Given the description of an element on the screen output the (x, y) to click on. 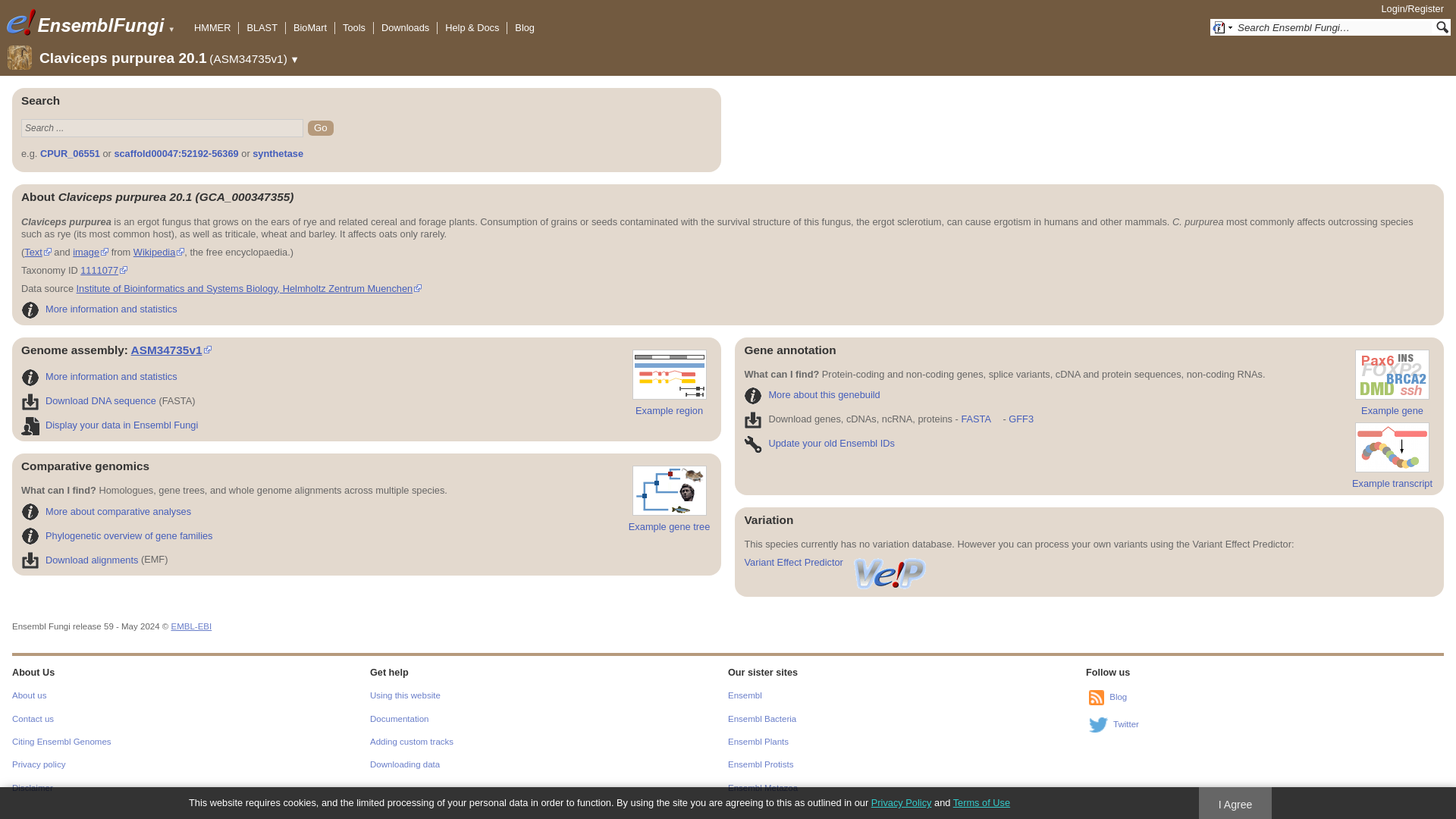
Search ... (161, 127)
Ensembl Genomes Home (20, 22)
BioMart (310, 27)
Ensembl Fungi Home (101, 22)
Tools (353, 27)
Follow us on Twitter! (1098, 724)
Downloads (405, 27)
BLAST (262, 27)
HMMER (211, 27)
Ensembl blog (1096, 697)
Go (320, 127)
Blog (524, 27)
